Given the description of an element on the screen output the (x, y) to click on. 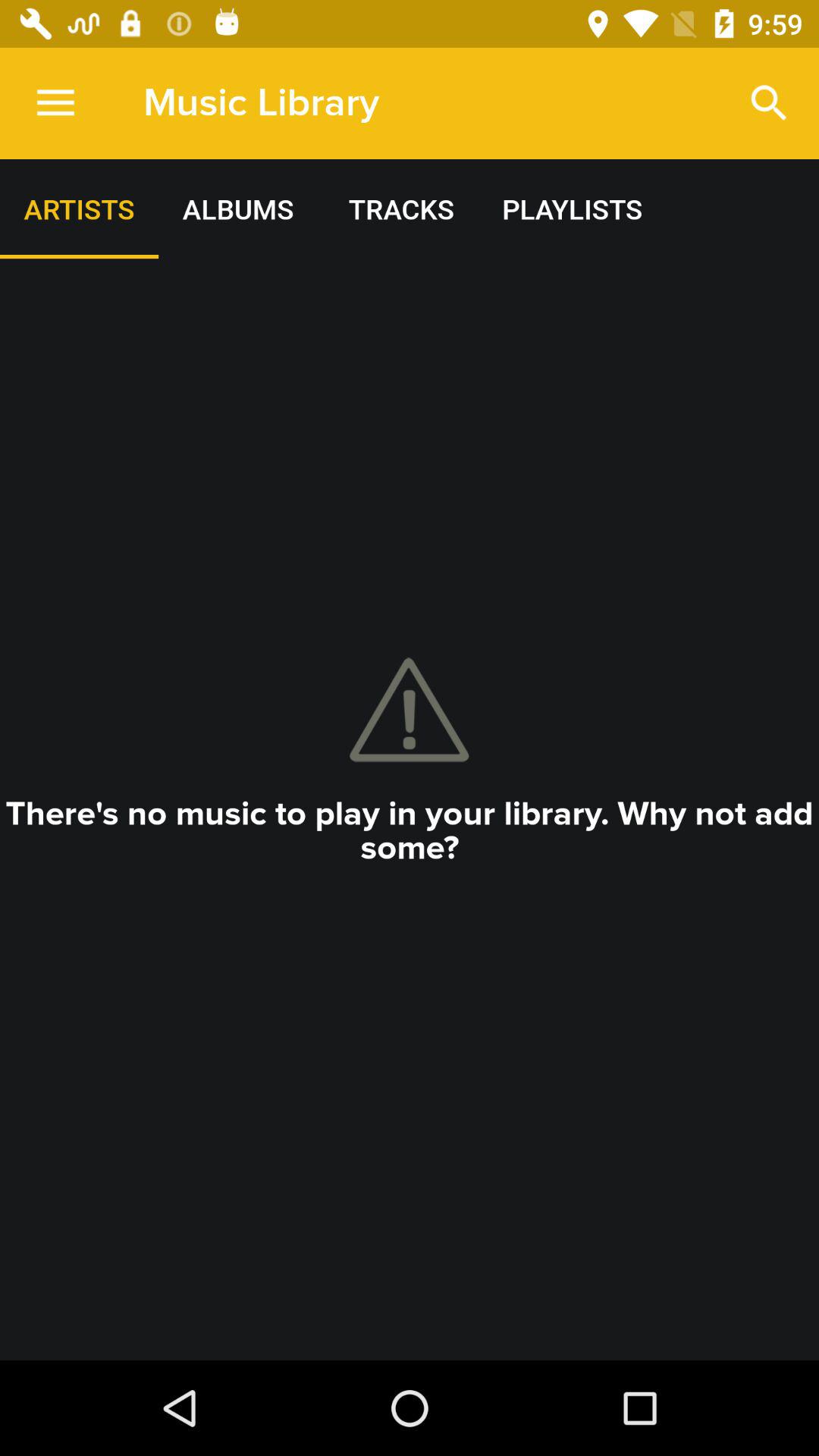
open the icon next to the music library icon (769, 102)
